Given the description of an element on the screen output the (x, y) to click on. 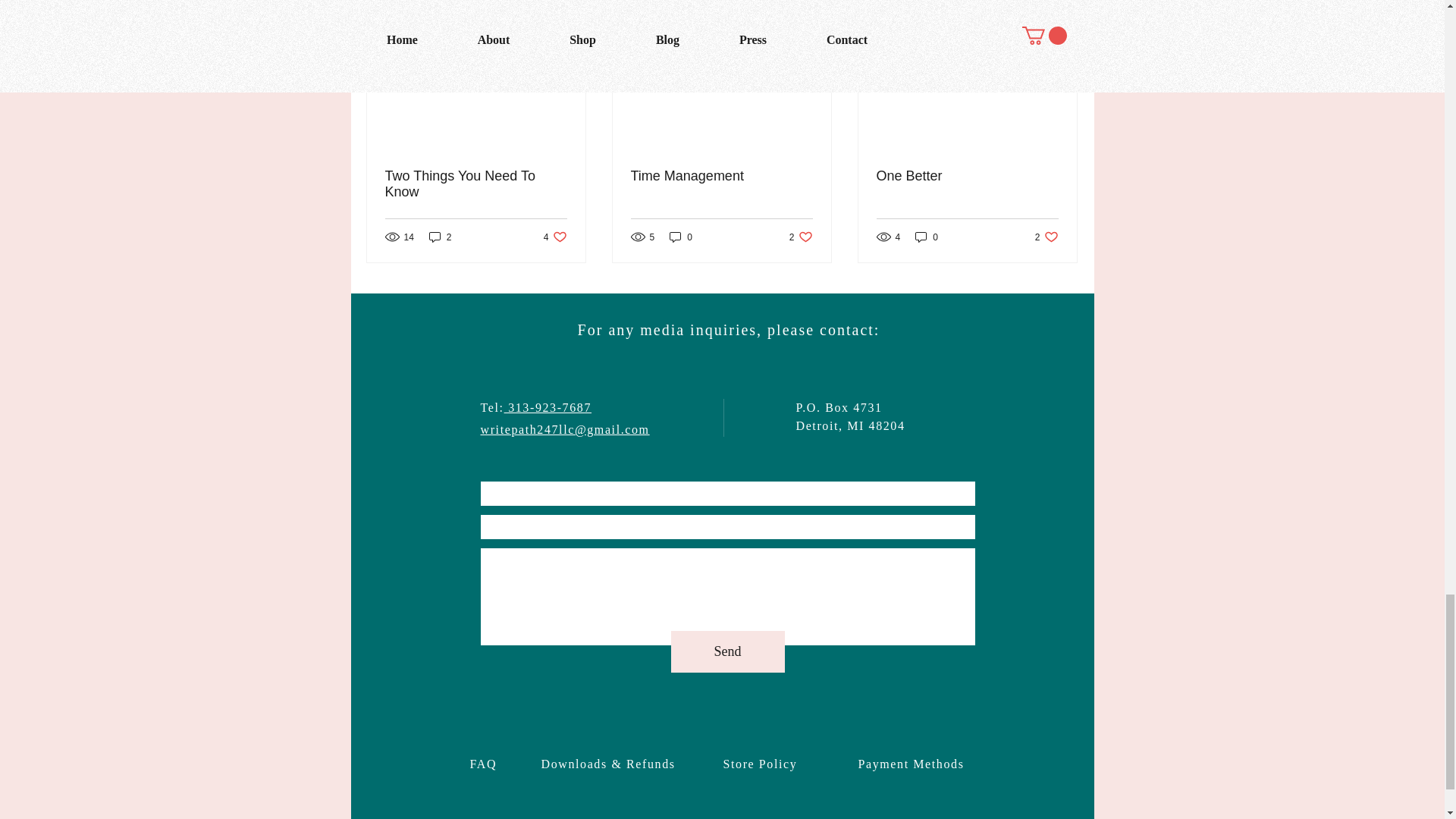
0 (555, 237)
Two Things You Need To Know (800, 237)
Time Management (926, 237)
See All (476, 183)
One Better (721, 176)
2 (1061, 5)
0 (967, 176)
